Given the description of an element on the screen output the (x, y) to click on. 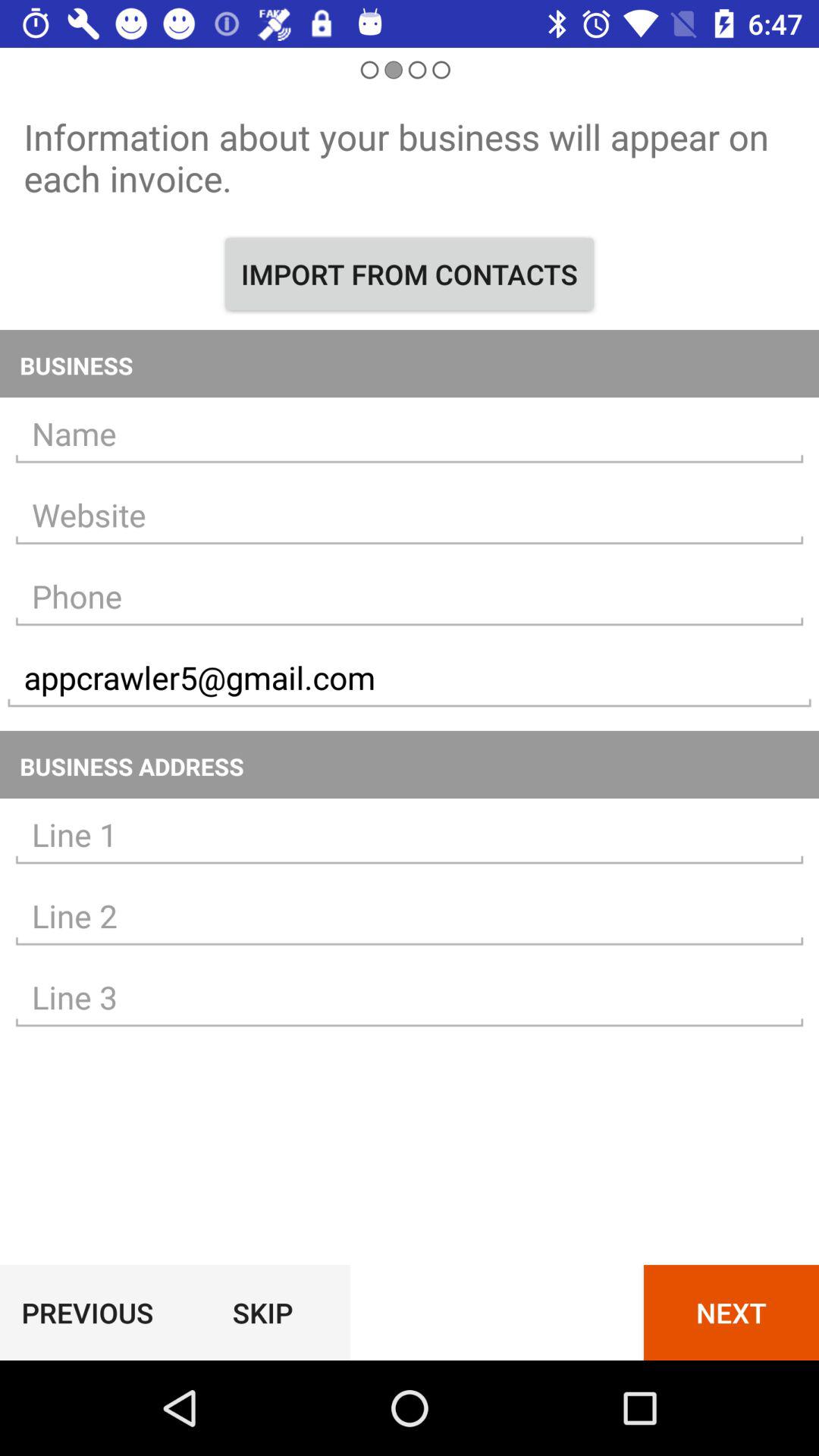
enter the phone number (409, 596)
